Given the description of an element on the screen output the (x, y) to click on. 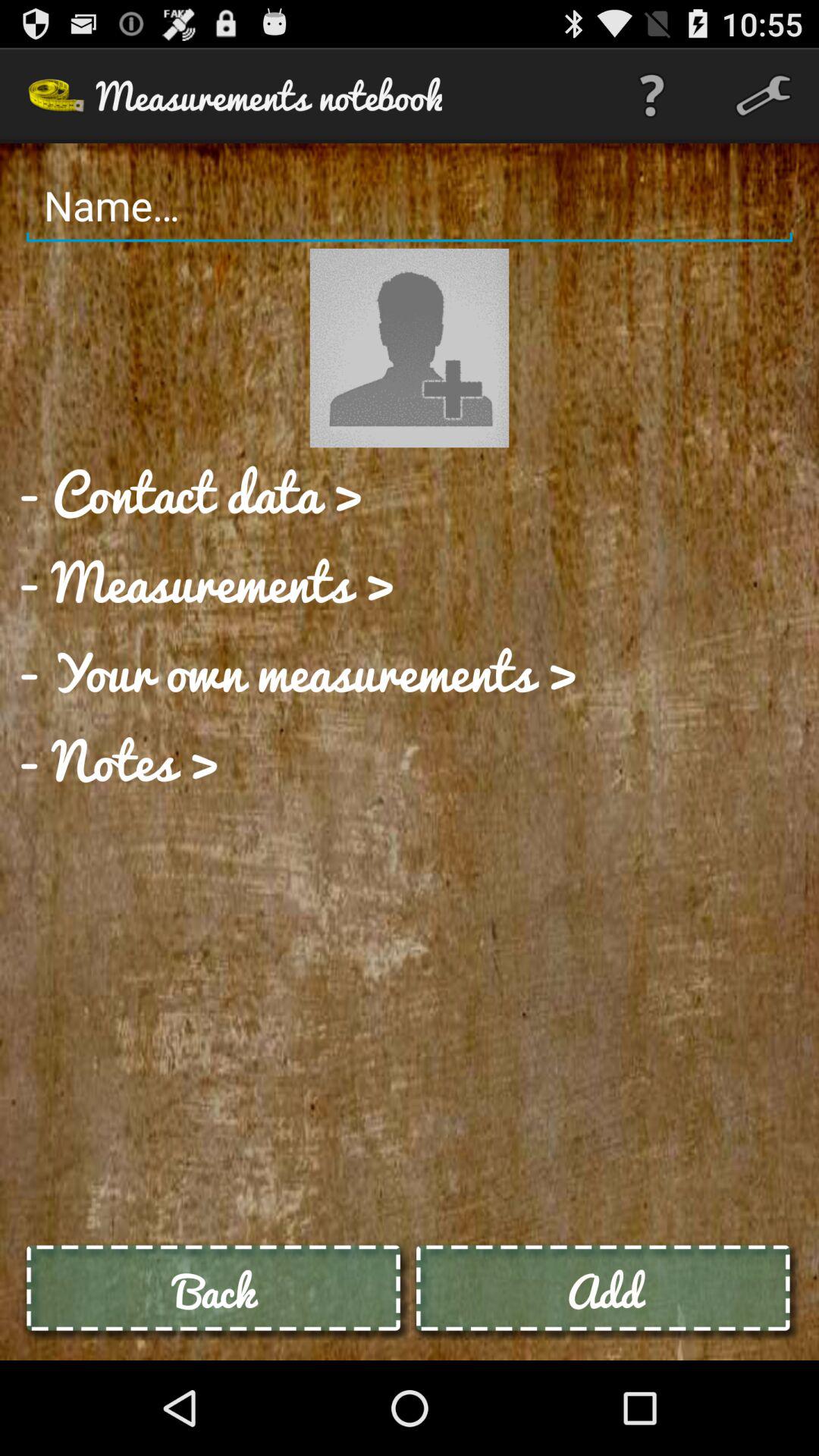
turn on icon next to the add button (214, 1290)
